Given the description of an element on the screen output the (x, y) to click on. 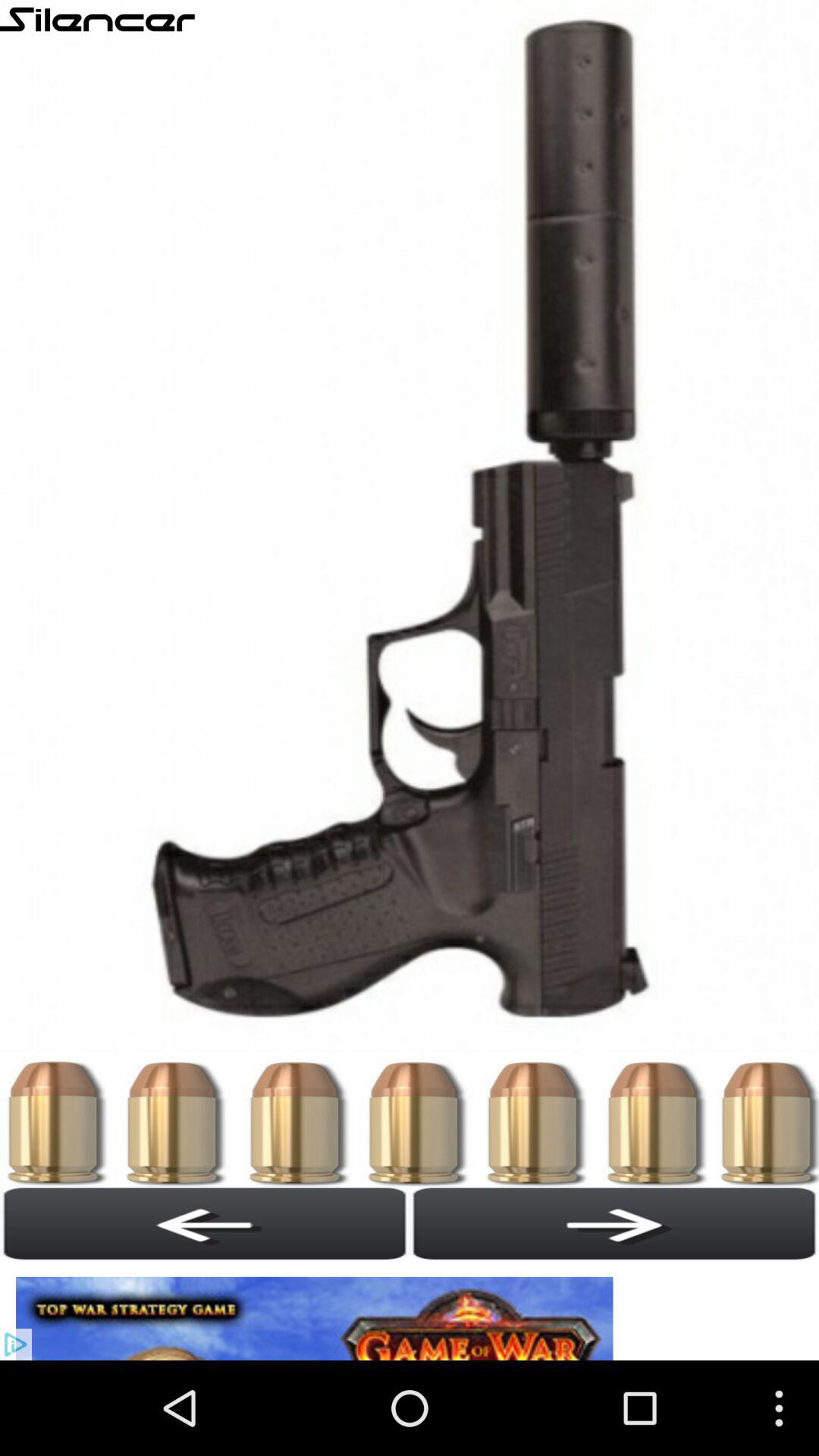
go to next weapon (614, 1223)
